Given the description of an element on the screen output the (x, y) to click on. 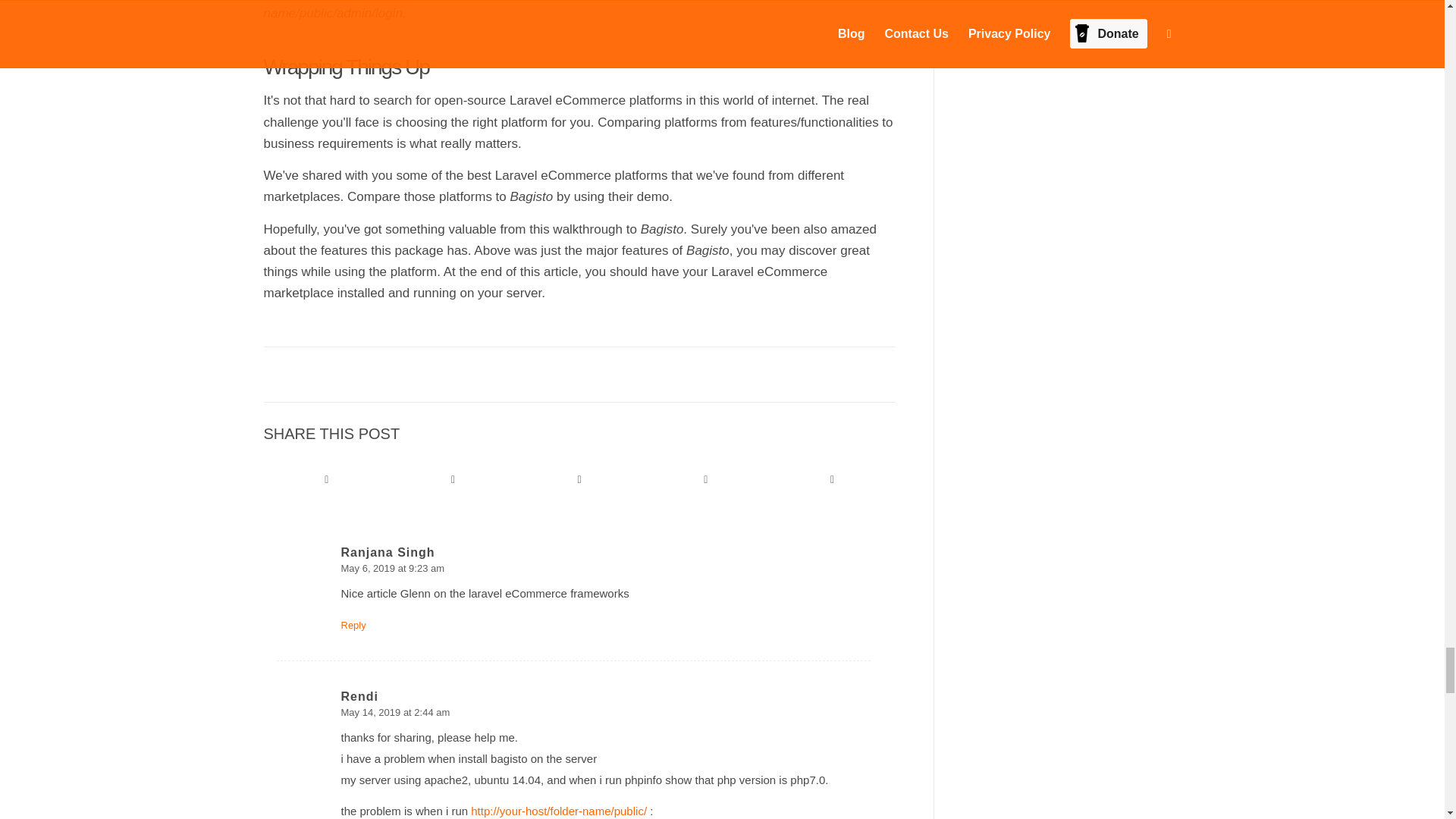
May 14, 2019 at 2:44 am (394, 712)
May 6, 2019 at 9:23 am (392, 568)
Reply (353, 624)
